Given the description of an element on the screen output the (x, y) to click on. 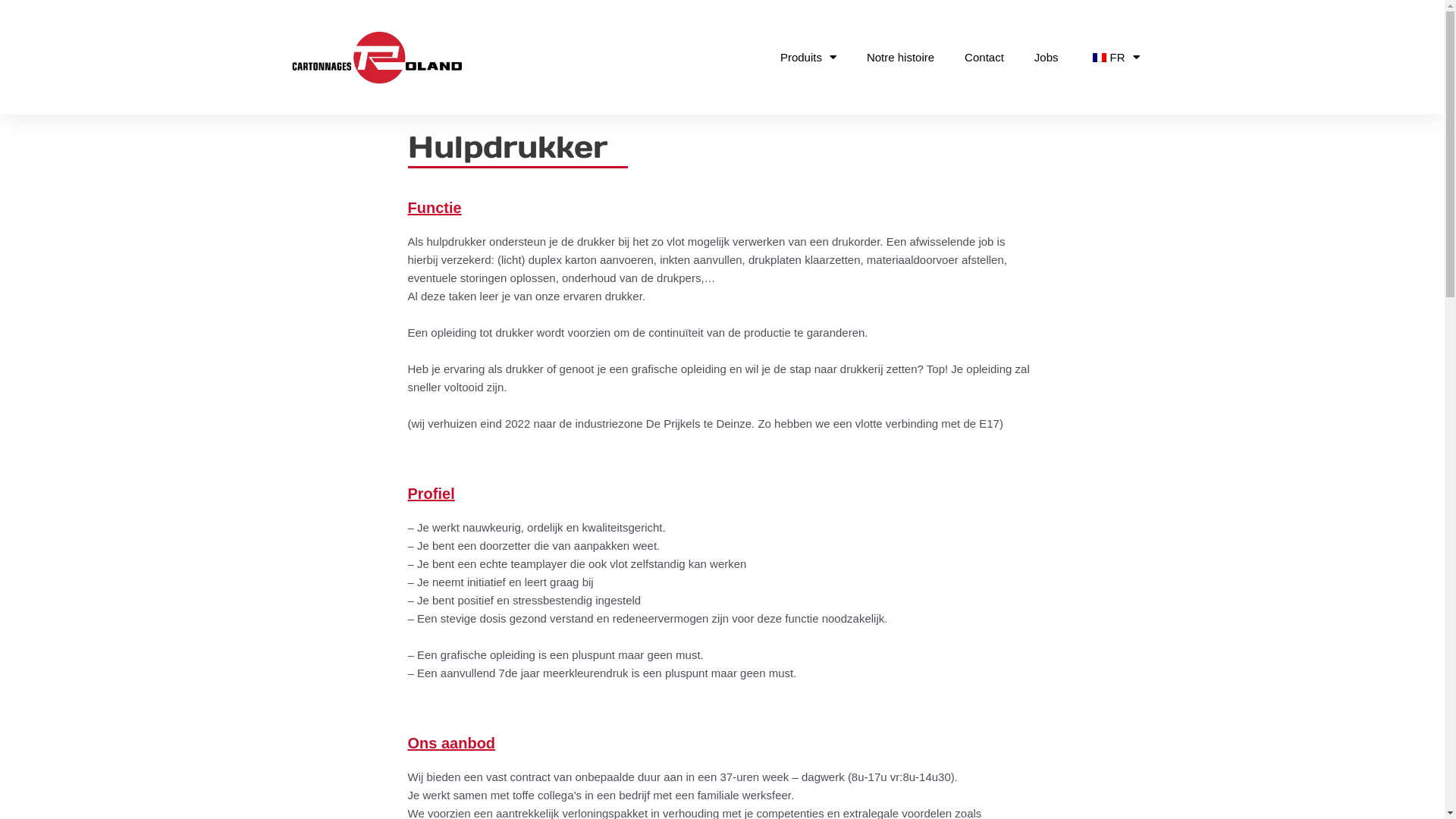
Jobs Element type: text (1046, 57)
FR Element type: text (1113, 57)
Produits Element type: text (808, 57)
Notre histoire Element type: text (900, 57)
Contact Element type: text (984, 57)
